Given the description of an element on the screen output the (x, y) to click on. 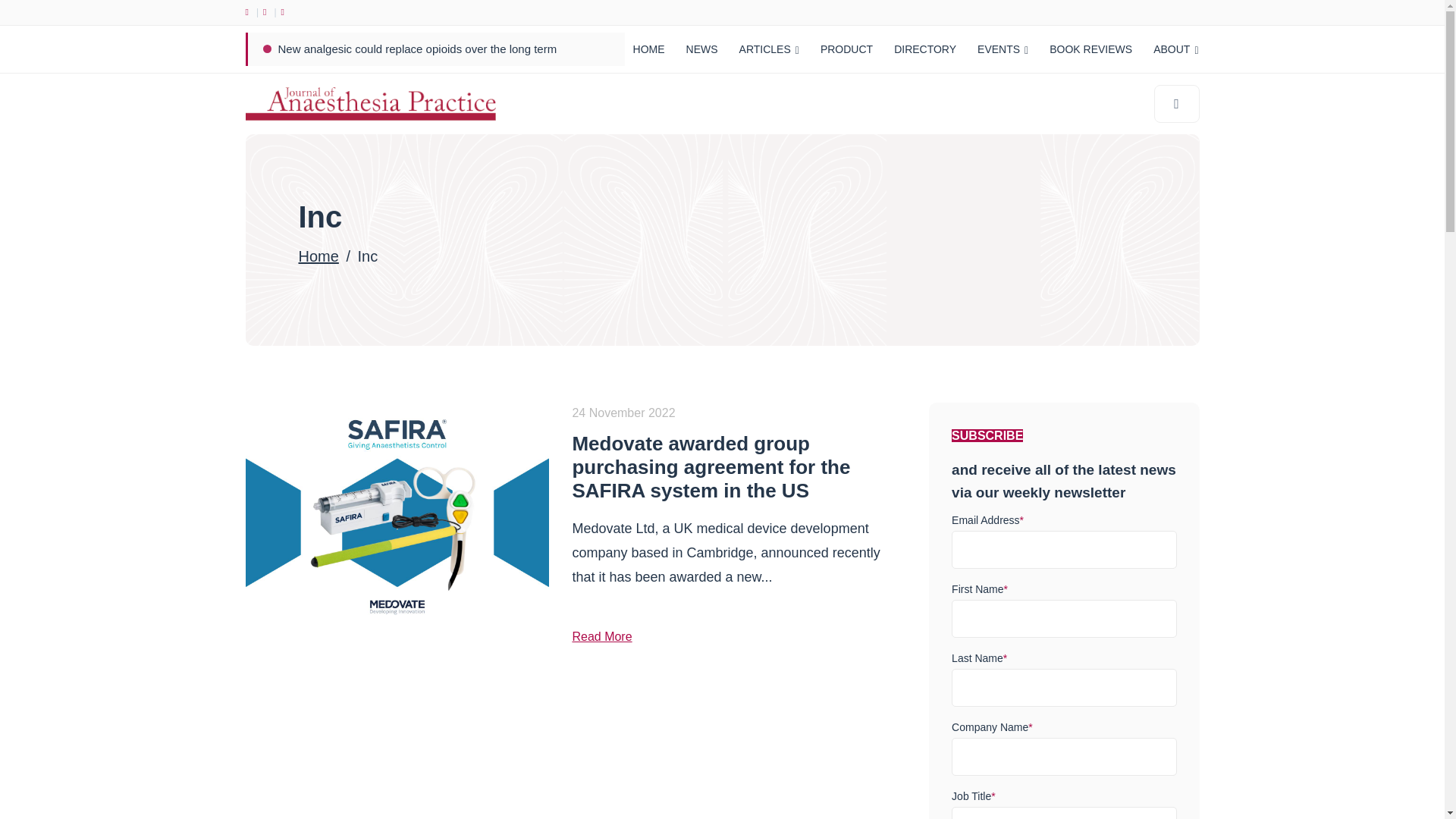
PRODUCT (846, 49)
ARTICLES (769, 49)
HOME (649, 49)
EVENTS (1002, 49)
ABOUT (1175, 49)
New analgesic could replace opioids over the long term (417, 48)
NEWS (702, 49)
DIRECTORY (924, 49)
BOOK REVIEWS (1090, 49)
